Given the description of an element on the screen output the (x, y) to click on. 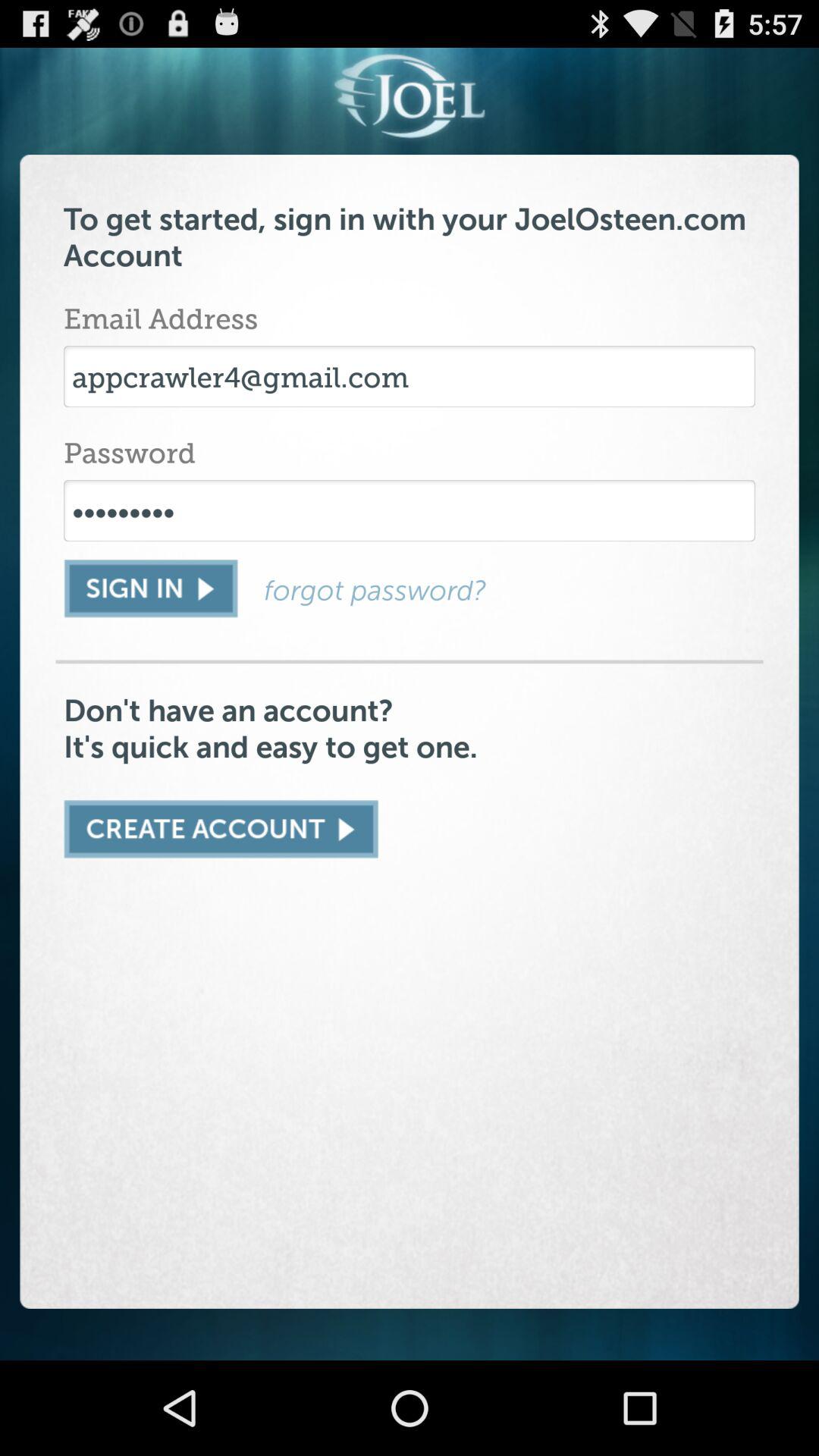
turn on the item below the crowd3116 icon (150, 588)
